Given the description of an element on the screen output the (x, y) to click on. 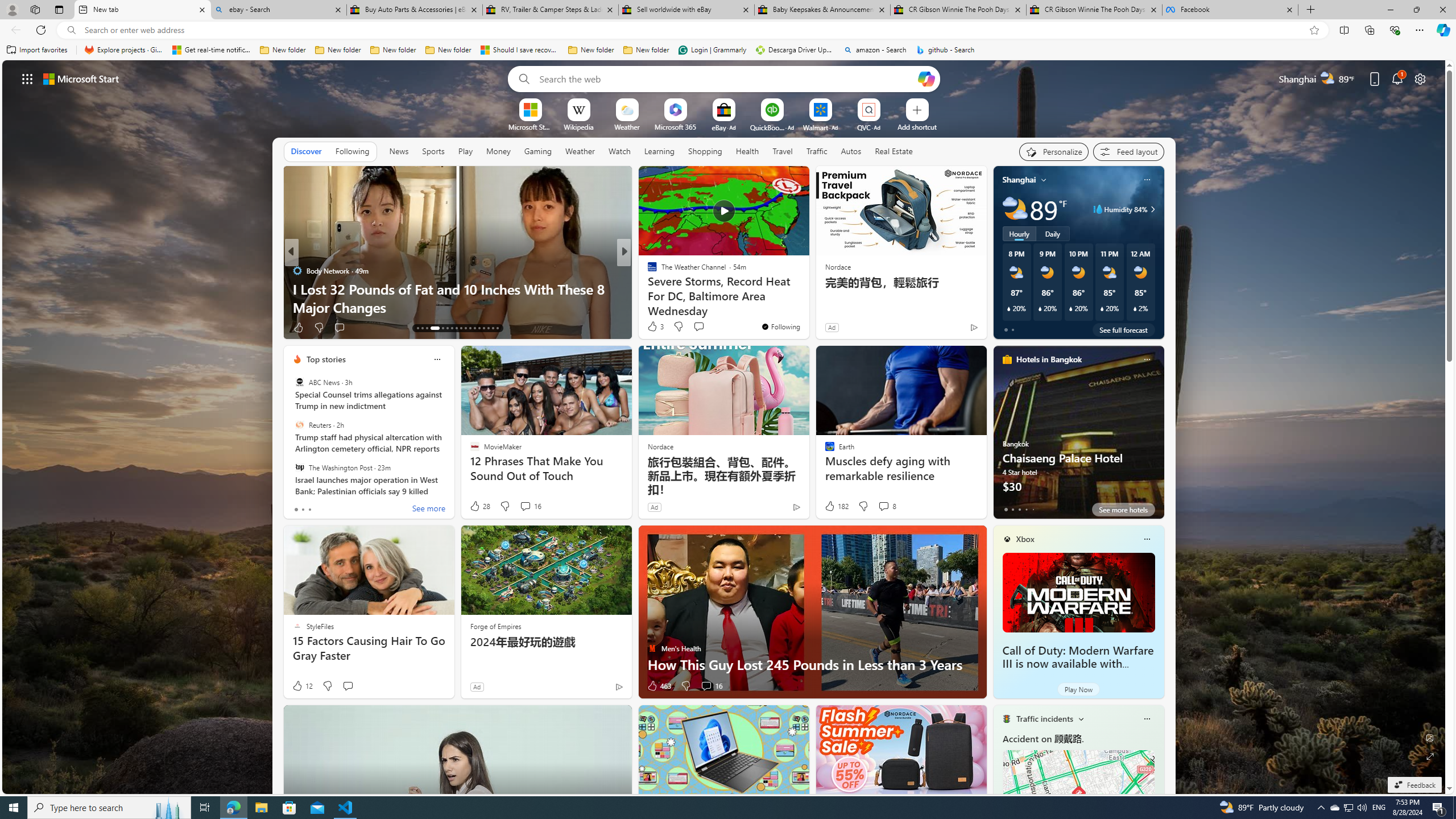
USA TODAY (647, 270)
Enter your search term (726, 78)
AutomationID: tab-29 (497, 328)
Notifications (1397, 78)
Real Estate (893, 151)
Class: weather-current-precipitation-glyph (1134, 308)
Weather (579, 151)
Travel (782, 151)
Edit Background (1430, 737)
View comments 167 Comment (703, 327)
